Given the description of an element on the screen output the (x, y) to click on. 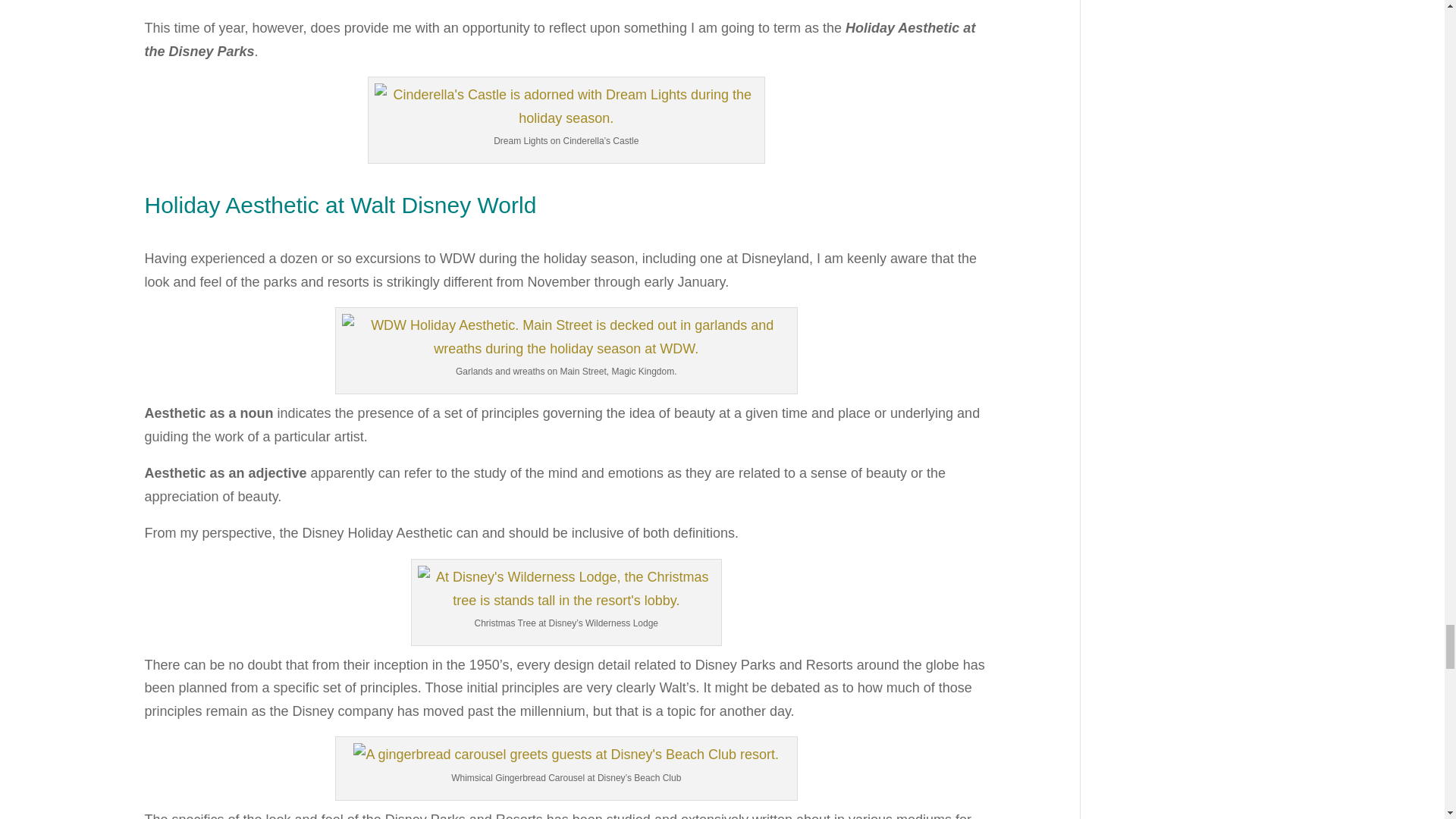
Holiday Aesthetic at WDW (566, 106)
